Given the description of an element on the screen output the (x, y) to click on. 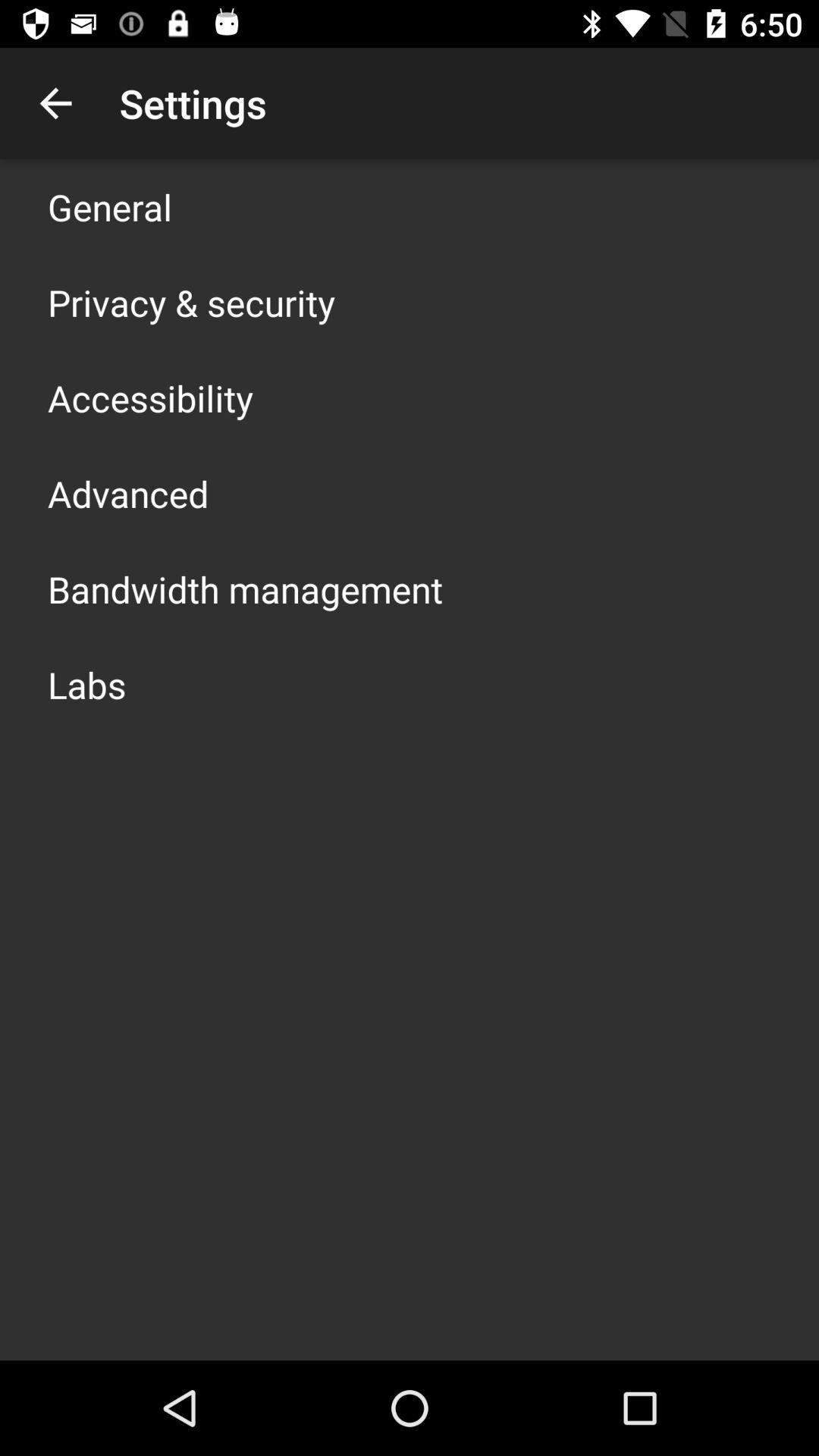
choose item to the left of settings icon (55, 103)
